Given the description of an element on the screen output the (x, y) to click on. 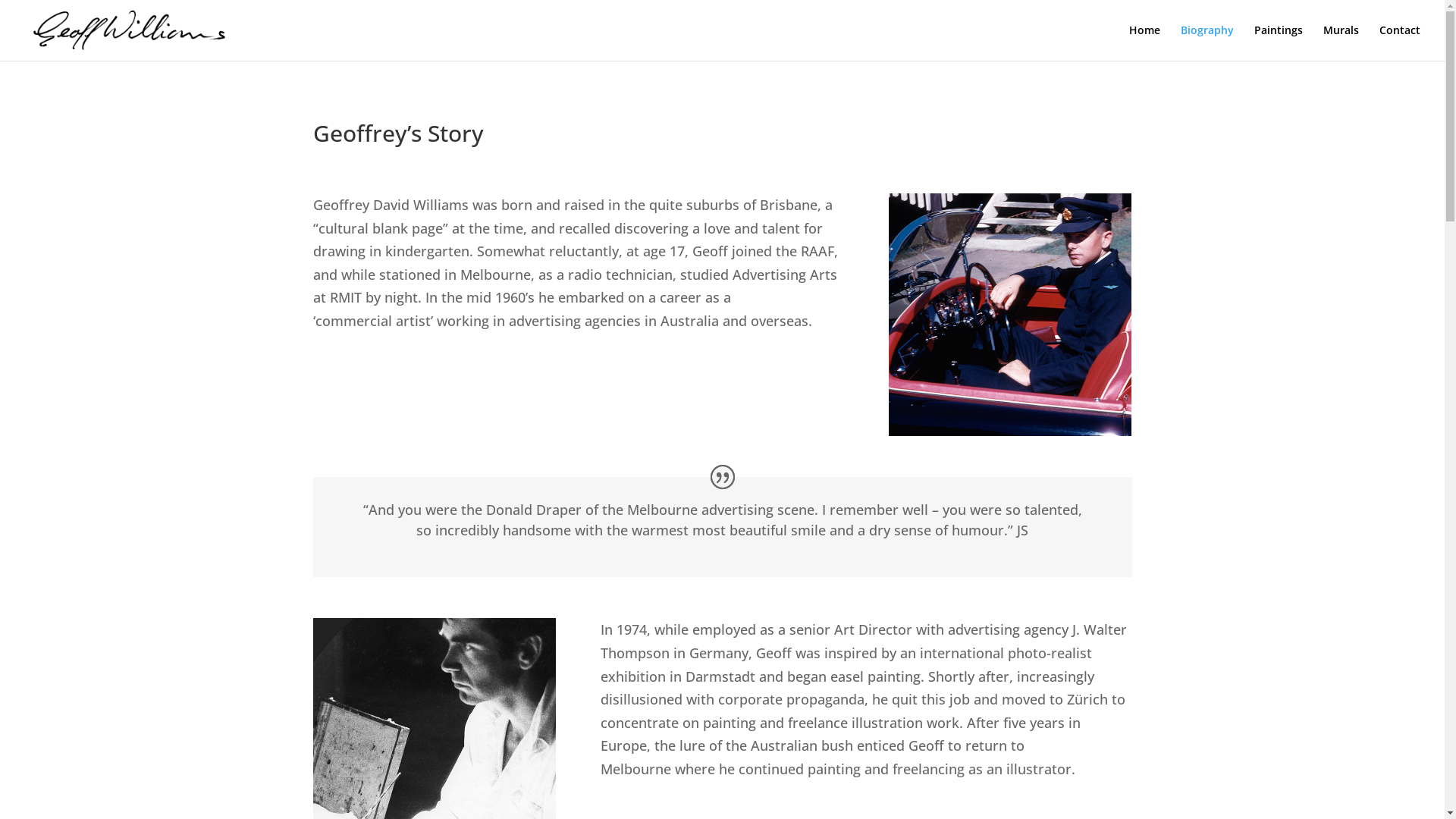
Home Element type: text (1144, 42)
Contact Element type: text (1399, 42)
Murals Element type: text (1340, 42)
Paintings Element type: text (1278, 42)
Biography Element type: text (1206, 42)
